Given the description of an element on the screen output the (x, y) to click on. 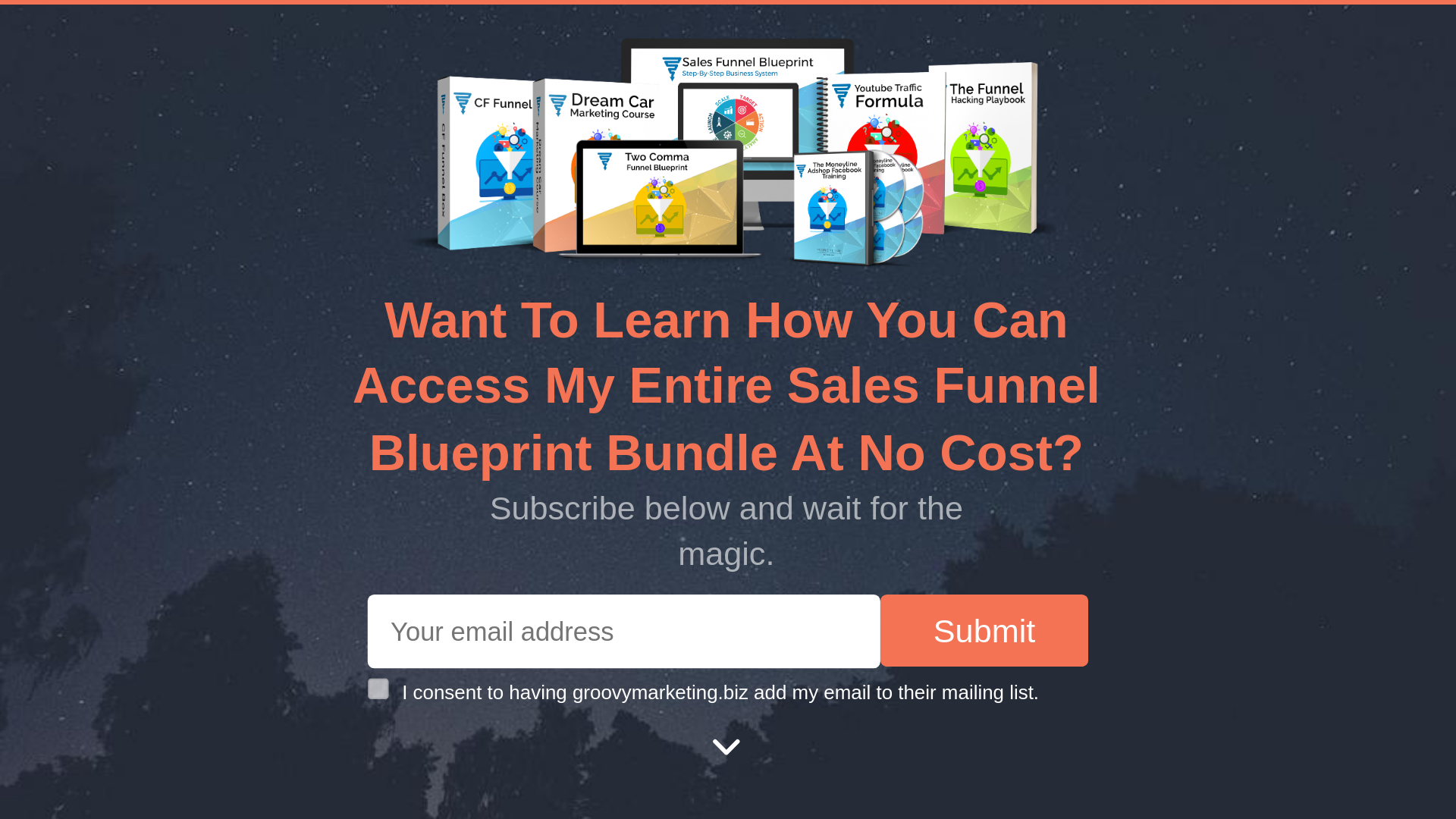
Submit (928, 611)
on (372, 682)
menu (738, 39)
